Given the description of an element on the screen output the (x, y) to click on. 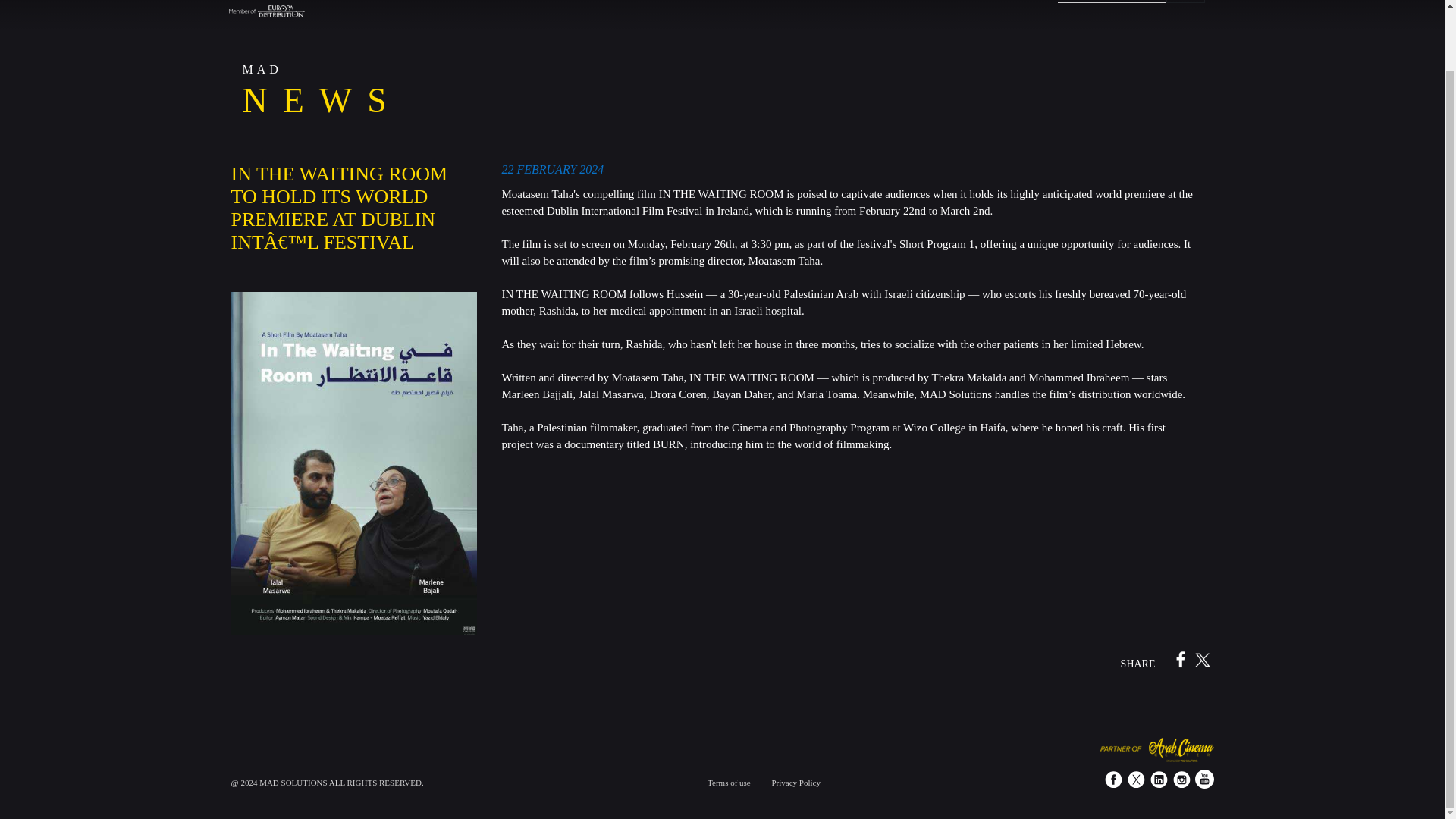
MAD SERVICES (656, 1)
NEWS (730, 1)
Privacy Policy (794, 782)
Terms of use (729, 782)
MAD FILMS (563, 1)
ABOUT (490, 1)
CONTACT (927, 1)
HOME (437, 1)
